Given the description of an element on the screen output the (x, y) to click on. 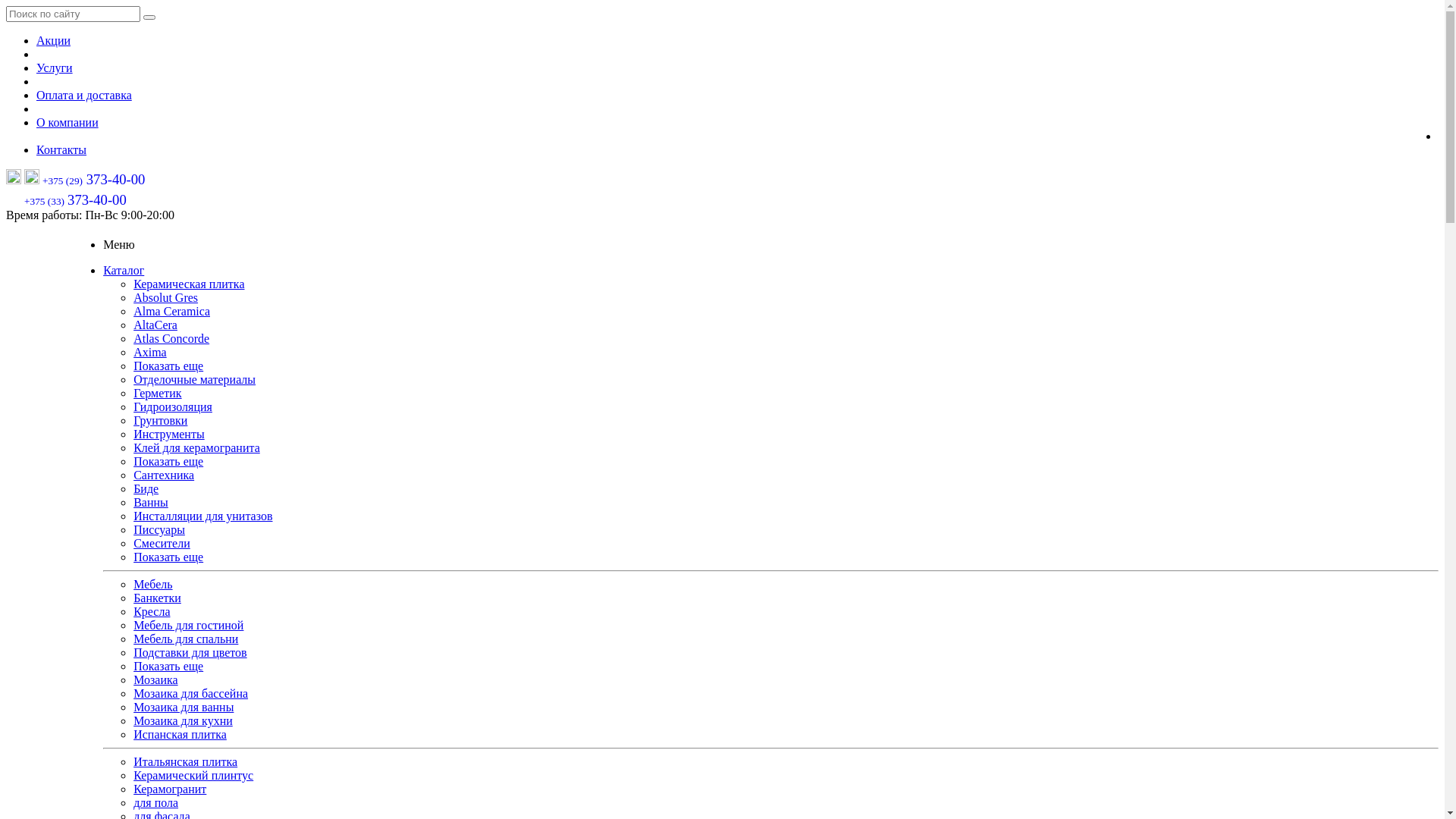
Absolut Gres Element type: text (165, 297)
Alma Ceramica Element type: text (171, 310)
Axima Element type: text (149, 351)
AltaCera Element type: text (155, 324)
+375 (33) 373-40-00 Element type: text (75, 200)
+375 (29) 373-40-00 Element type: text (93, 179)
Atlas Concorde Element type: text (171, 338)
